Given the description of an element on the screen output the (x, y) to click on. 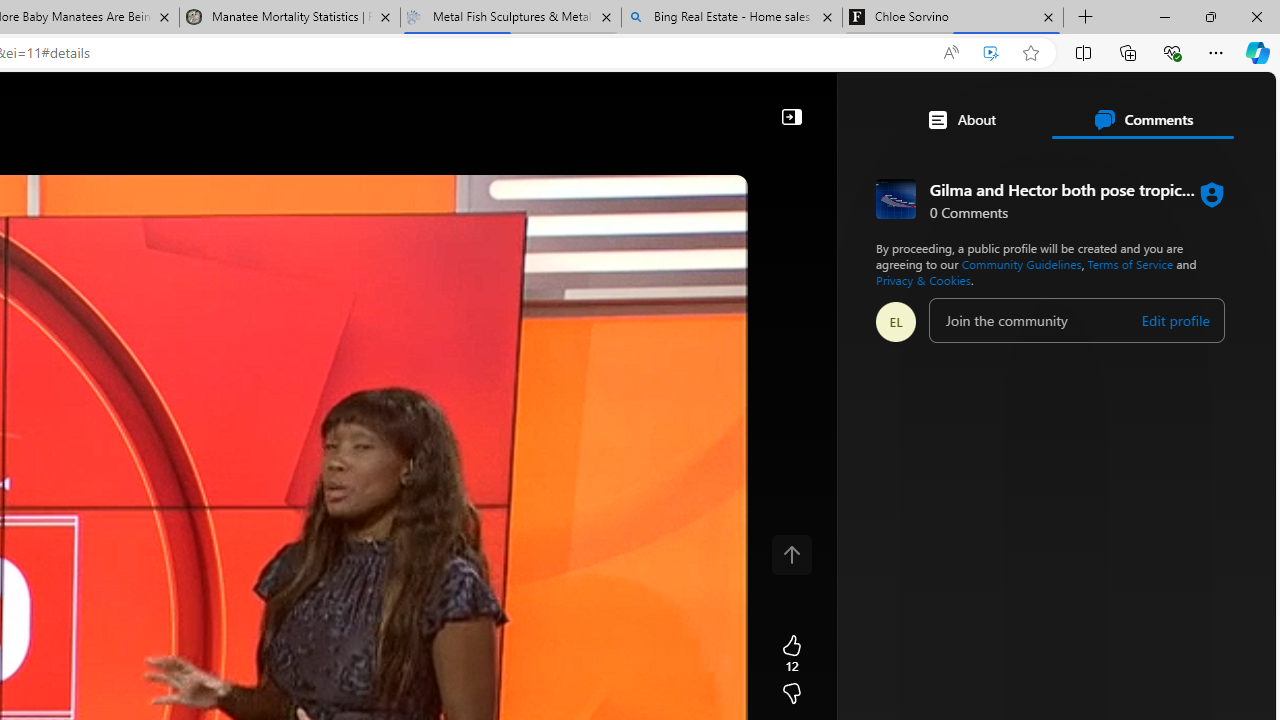
Enhance video (991, 53)
Profile Picture (895, 321)
The Associated Press (777, 645)
12 Like (791, 653)
comment-box (1076, 320)
Income For Life Trading System (887, 386)
